Given the description of an element on the screen output the (x, y) to click on. 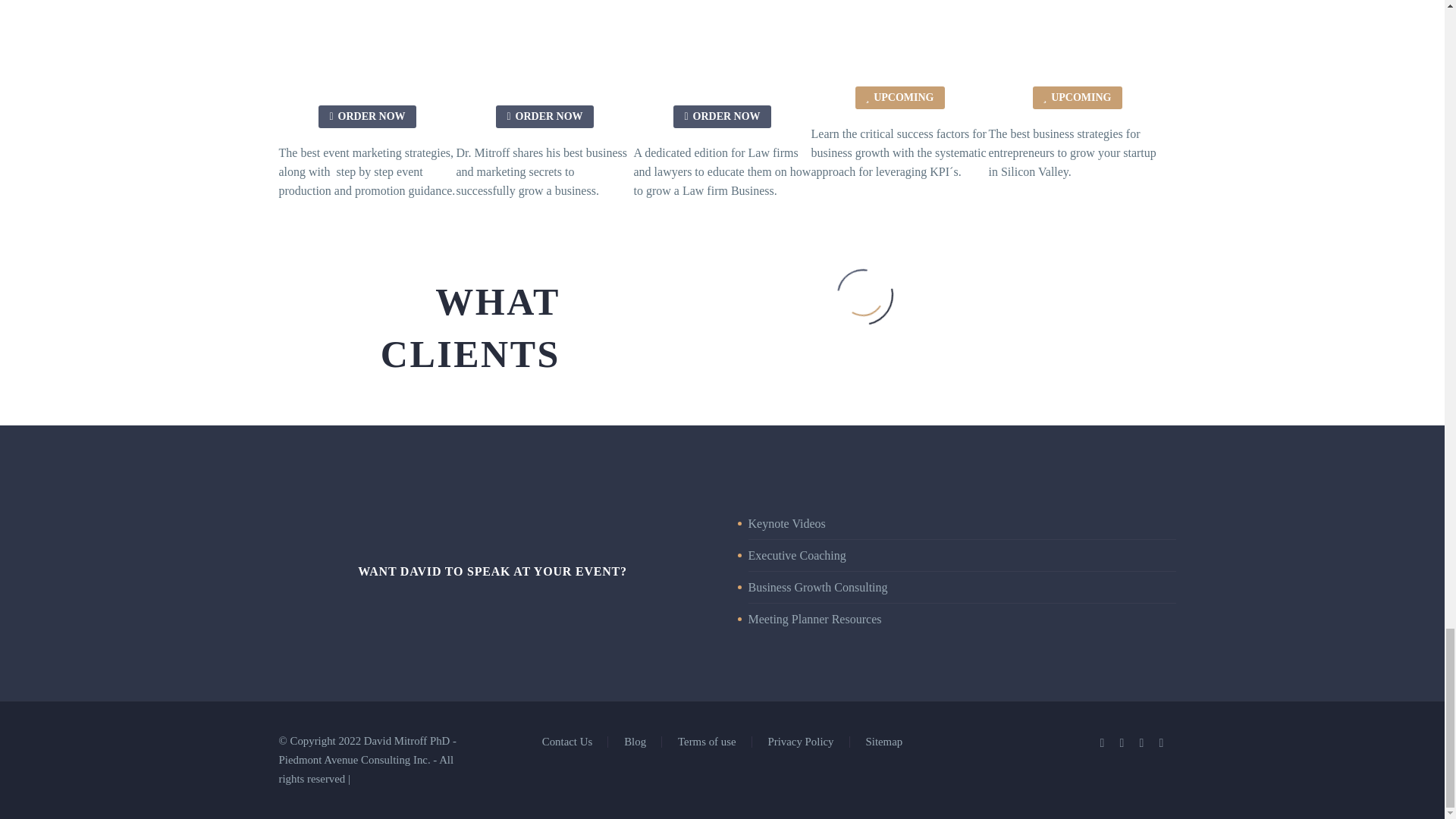
ORDER NOW (544, 116)
Keynote Videos (786, 522)
Instagram (1122, 743)
Meeting Planner Resources (814, 618)
Vimeo (1141, 743)
ORDER NOW (366, 116)
LinkedIn (1102, 743)
YouTube (1161, 743)
UPCOMING (900, 97)
Business Growth Consulting (817, 586)
UPCOMING (1077, 97)
Executive Coaching (796, 554)
ORDER NOW (721, 116)
